Given the description of an element on the screen output the (x, y) to click on. 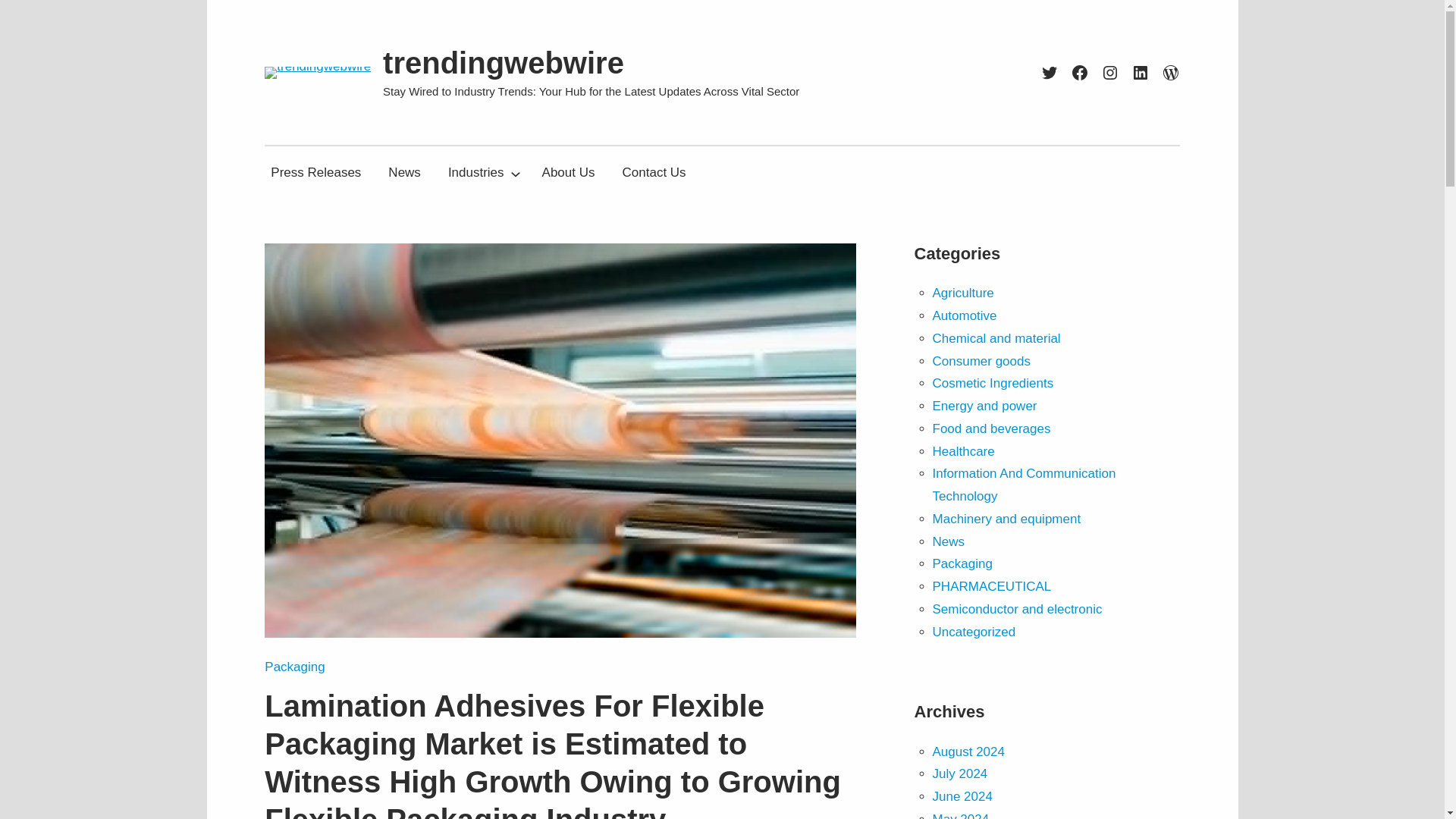
trendingwebwire (503, 62)
Packaging (294, 667)
Industries (476, 172)
Instagram (1109, 72)
Press Releases (315, 172)
Facebook (1079, 72)
WordPress (1170, 72)
Twitter (1049, 72)
Contact Us (654, 172)
About Us (568, 172)
